Given the description of an element on the screen output the (x, y) to click on. 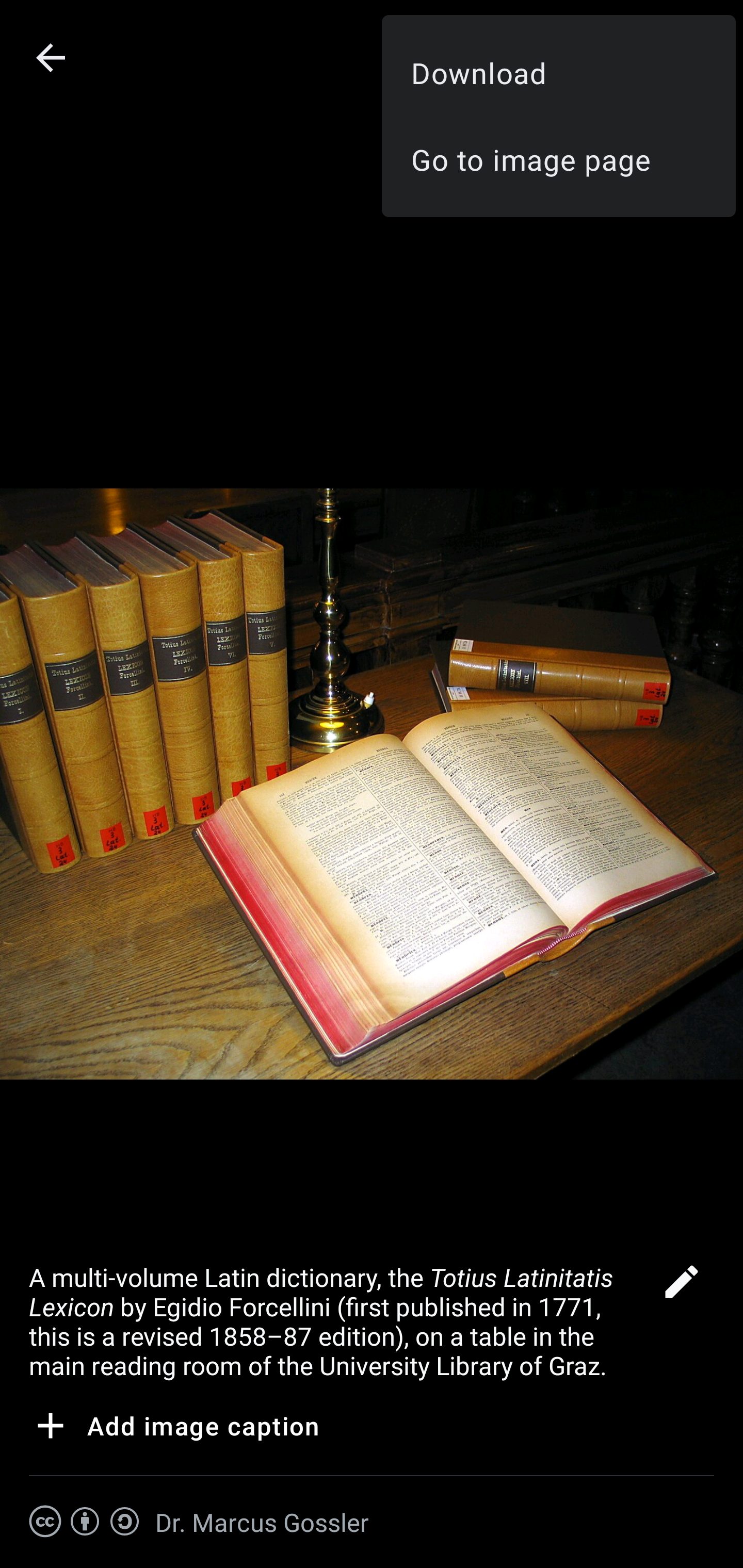
Download (558, 72)
Go to image page (558, 159)
